Given the description of an element on the screen output the (x, y) to click on. 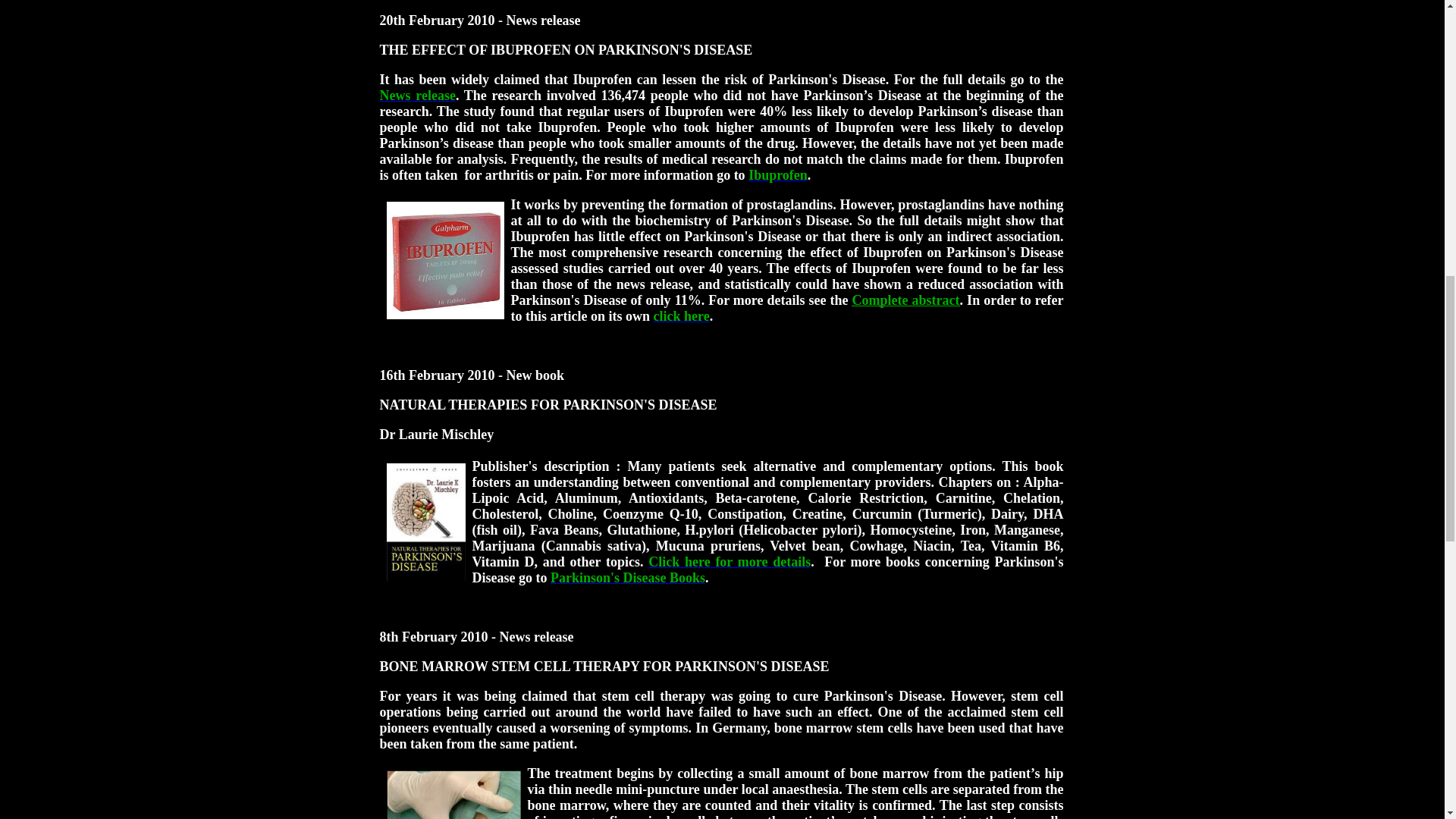
click here (681, 315)
Complete abstract (905, 299)
Ibuprofen (778, 174)
News release (416, 95)
Click here for more details (728, 561)
Parkinson's Disease Books (627, 577)
